Given the description of an element on the screen output the (x, y) to click on. 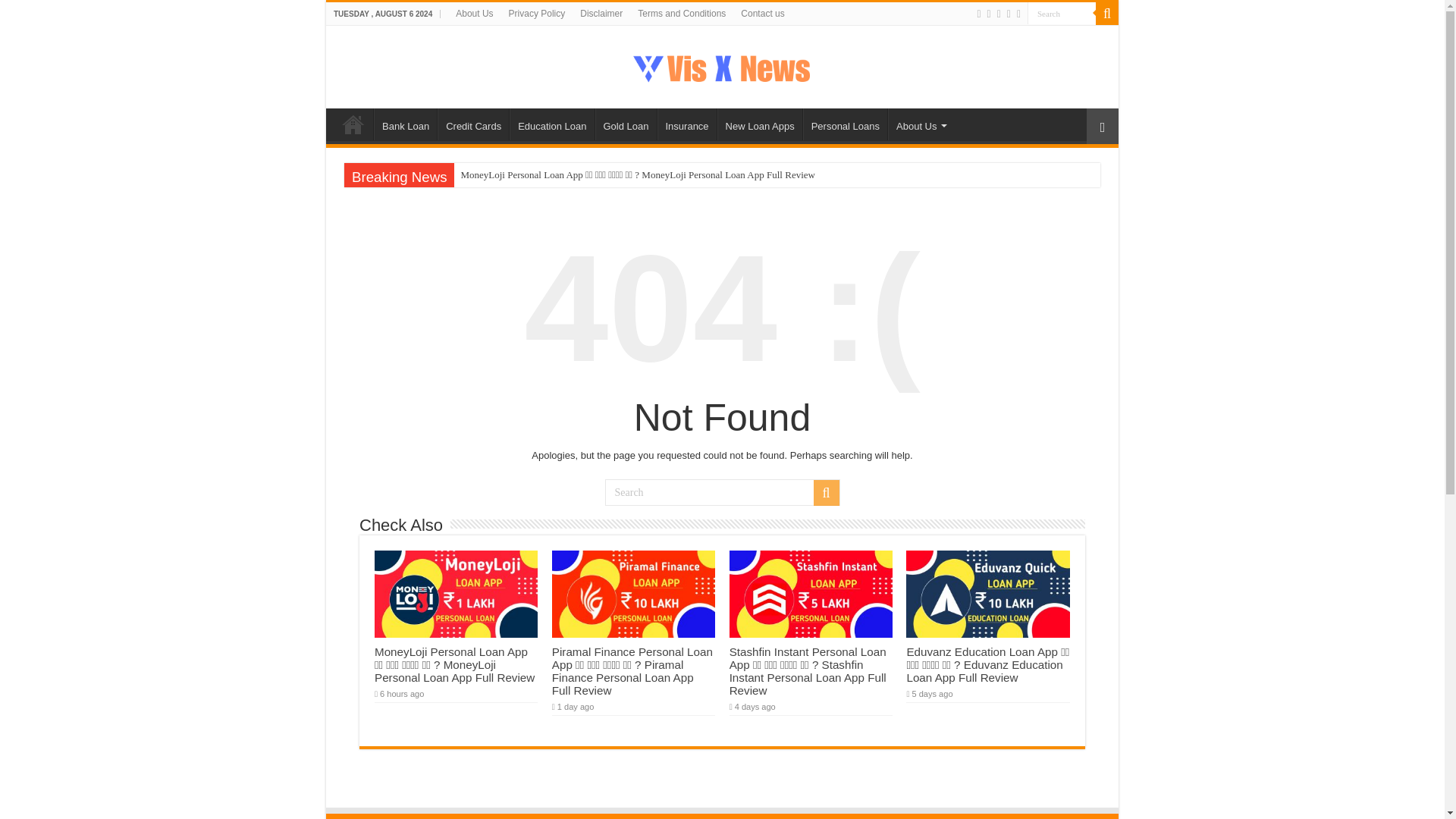
Search (722, 492)
Gold Loan (625, 124)
About Us (474, 13)
Bank Loan (405, 124)
Search (1107, 13)
Visxnews (721, 66)
Search (1061, 13)
Disclaimer (601, 13)
Terms and Conditions (681, 13)
New Loan Apps (759, 124)
Insurance (686, 124)
Credit Cards (473, 124)
Contact us (762, 13)
Privacy Policy (536, 13)
Search (1061, 13)
